Given the description of an element on the screen output the (x, y) to click on. 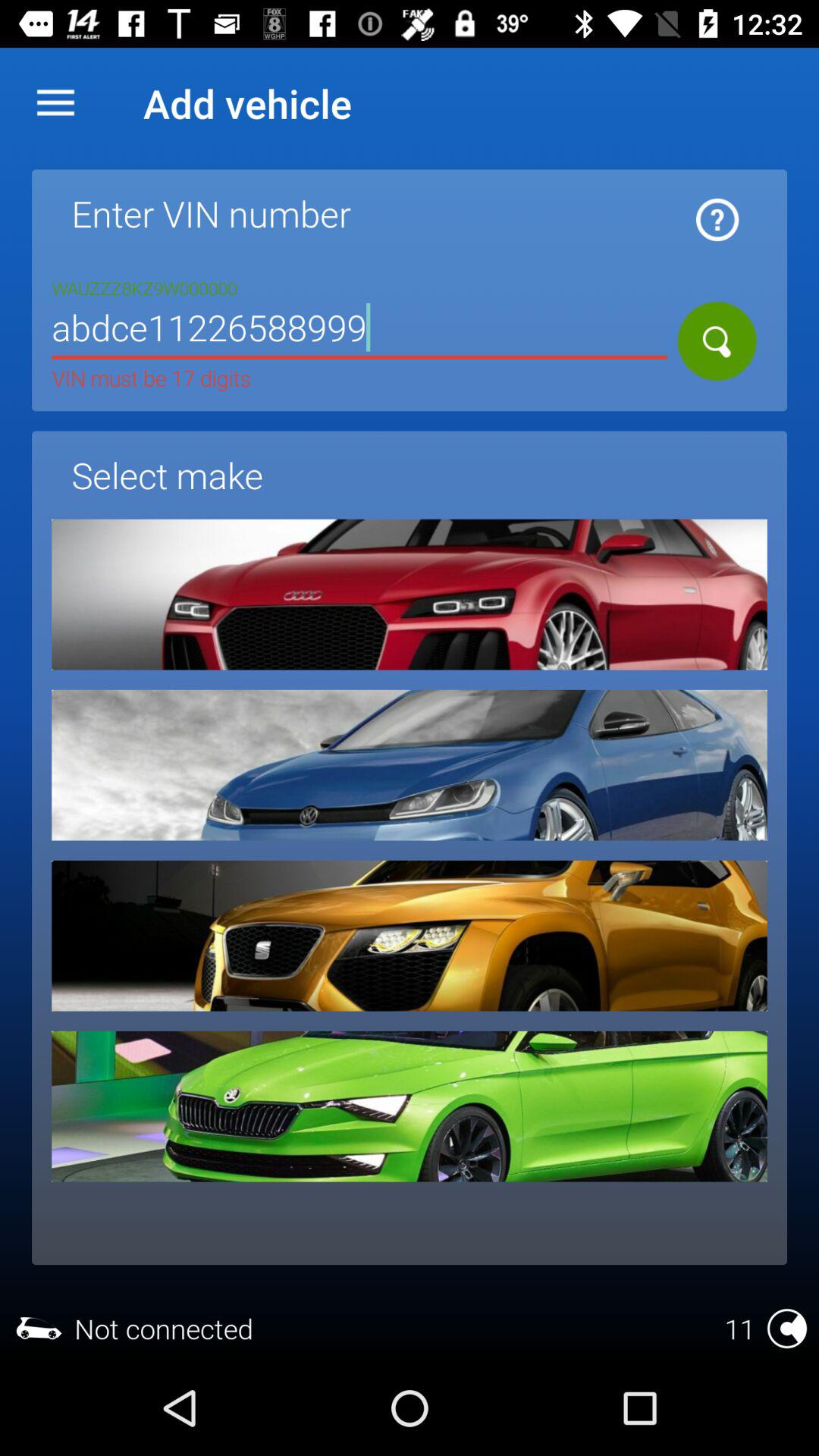
press icon above select make item (359, 330)
